Given the description of an element on the screen output the (x, y) to click on. 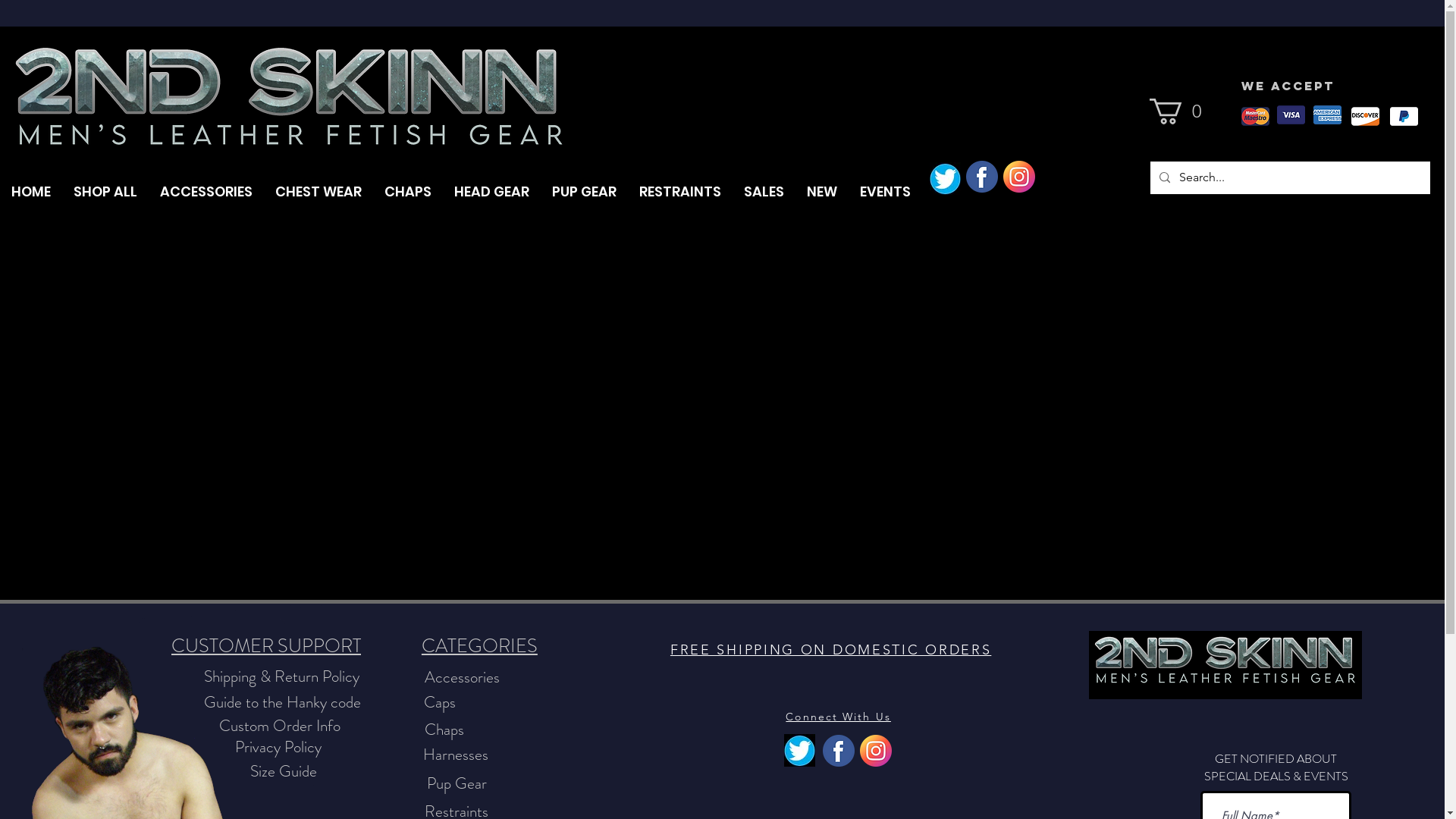
SALES Element type: text (763, 191)
Custom Order Info Element type: text (279, 725)
ACCESSORIES Element type: text (205, 191)
0 Element type: text (1180, 111)
EVENTS Element type: text (885, 191)
Harnesses Element type: text (455, 754)
Accessories Element type: text (461, 677)
Twitter-Logo-Png-Transparent-Background. Element type: hover (799, 750)
PUP GEAR Element type: text (583, 191)
SHOP ALL Element type: text (105, 191)
Caps Element type: text (439, 702)
CHAPS Element type: text (407, 191)
paypal-new.webp Element type: hover (1403, 115)
discover.webp Element type: hover (1365, 115)
HOME Element type: text (31, 191)
Size Guide Element type: text (283, 771)
Guide to the Hanky code Element type: text (281, 702)
Twitter-Logo-Png-Transparent-Background. Element type: hover (944, 178)
visa.webp Element type: hover (1291, 114)
CHEST WEAR Element type: text (318, 191)
RESTRAINTS Element type: text (679, 191)
CATEGORIES Element type: text (479, 645)
mastercard.webp Element type: hover (1254, 115)
Chaps Element type: text (444, 729)
Privacy Policy Element type: text (278, 746)
Pup Gear Element type: text (456, 783)
Shipping & Return Policy Element type: text (281, 676)
HEAD GEAR Element type: text (491, 191)
american_express.webp Element type: hover (1327, 114)
NEW Element type: text (821, 191)
CUSTOMER SUPPORT Element type: text (266, 645)
